Given the description of an element on the screen output the (x, y) to click on. 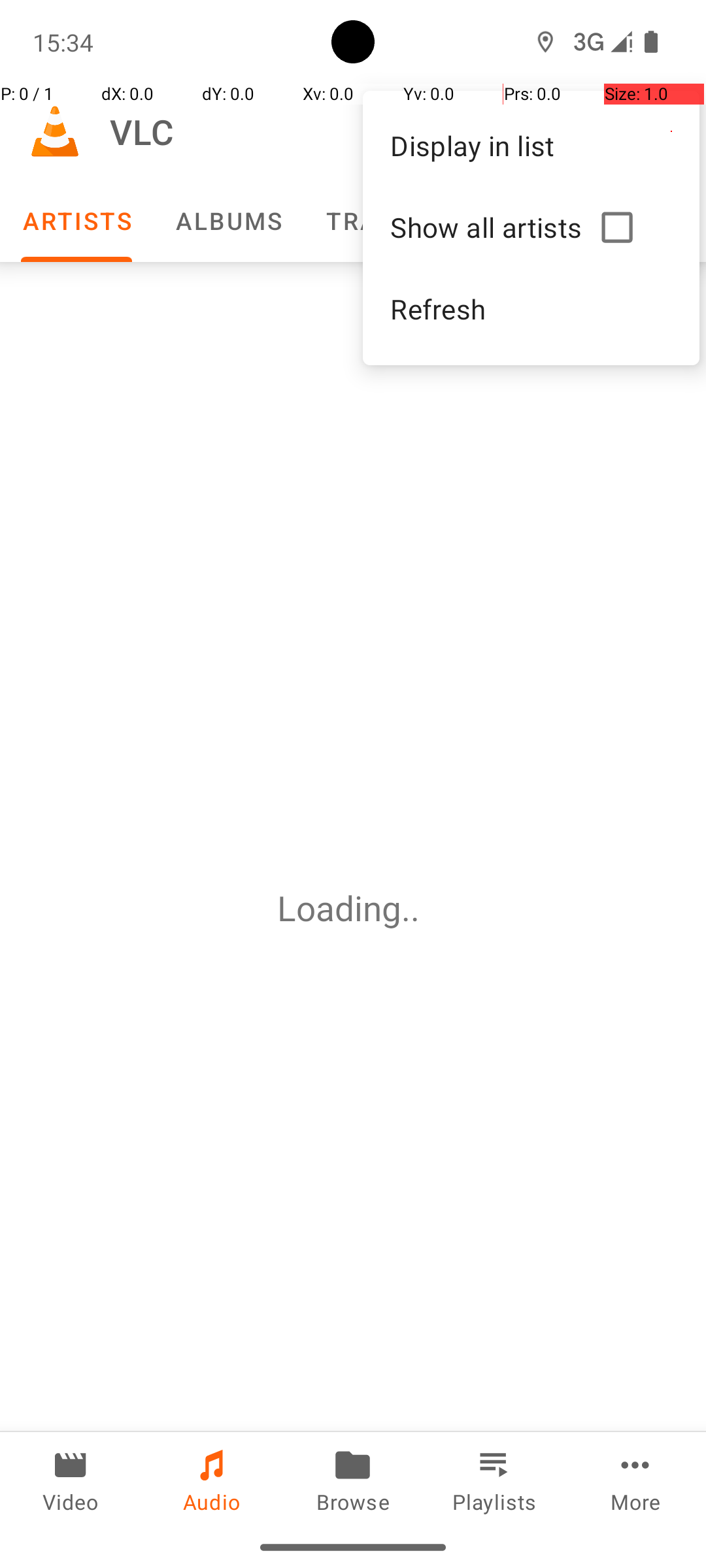
Display in list Element type: android.widget.TextView (531, 144)
Show all artists Element type: android.widget.TextView (489, 226)
Refresh Element type: android.widget.TextView (531, 308)
